Given the description of an element on the screen output the (x, y) to click on. 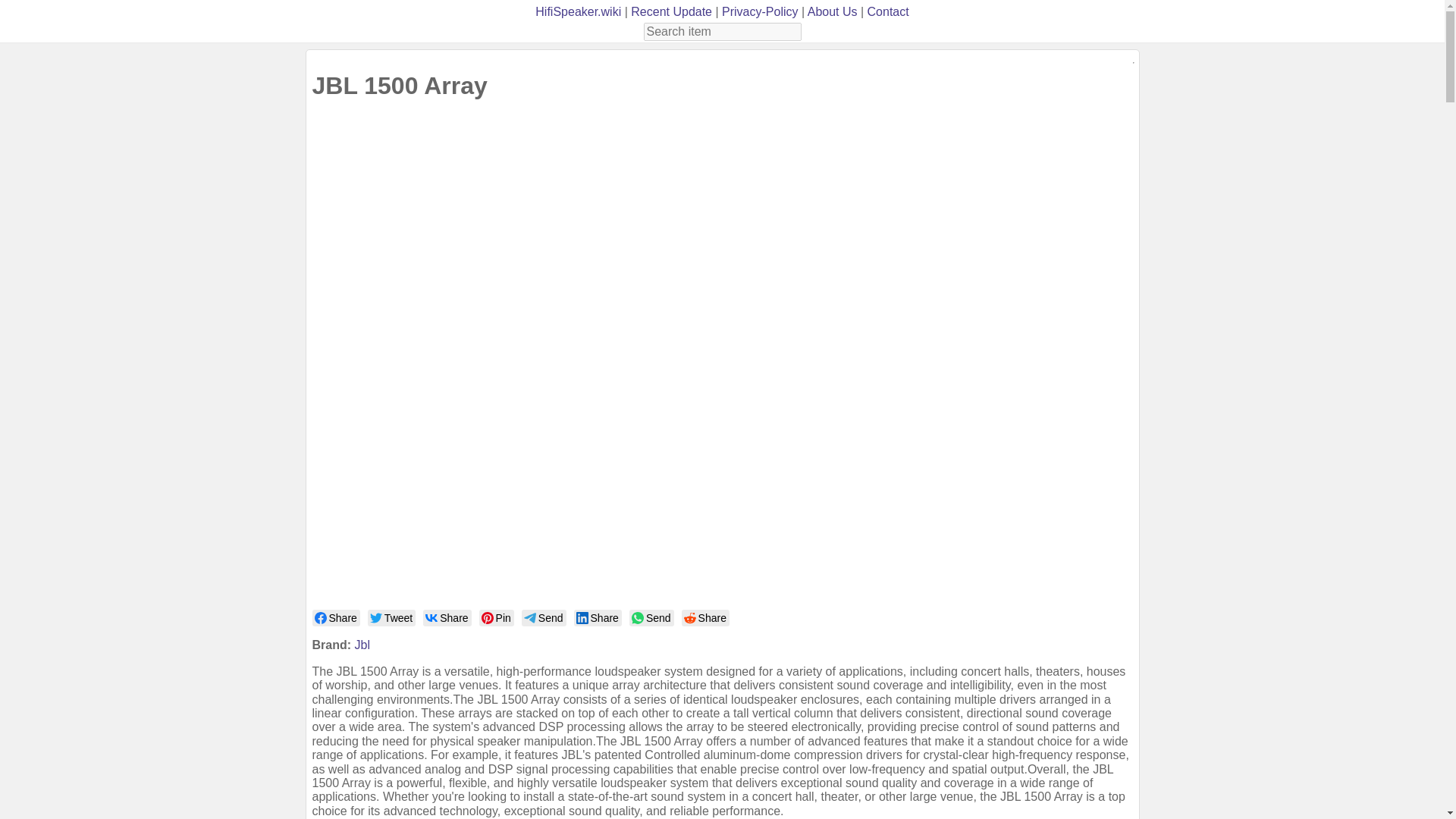
Privacy-Policy (759, 11)
About Us (832, 11)
Jbl (362, 644)
Contact (887, 11)
Advertisement (400, 357)
Recent Update (670, 11)
HifiSpeaker.wiki (578, 11)
